Given the description of an element on the screen output the (x, y) to click on. 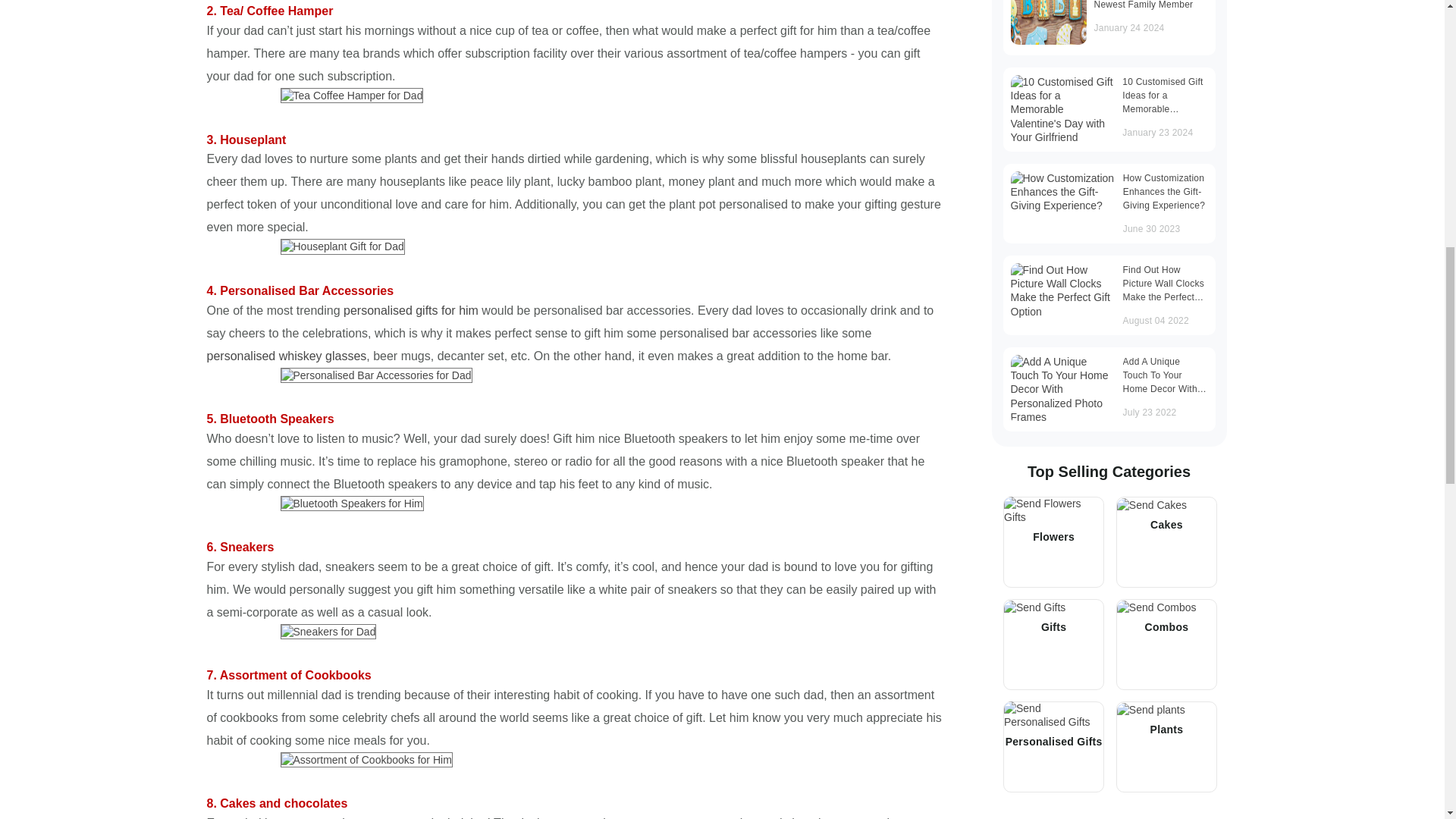
Sneakers for Dad (329, 631)
Houseplant Gift for Dad (342, 246)
personalised whiskey glasses (286, 355)
personalised gifts for him (411, 309)
Assortment of Cookbooks for Him (366, 759)
Personalised Bar Accessories for Dad (376, 375)
Bluetooth Speakers for Him (352, 503)
Tea Coffee Hamper for Dad (352, 95)
